Given the description of an element on the screen output the (x, y) to click on. 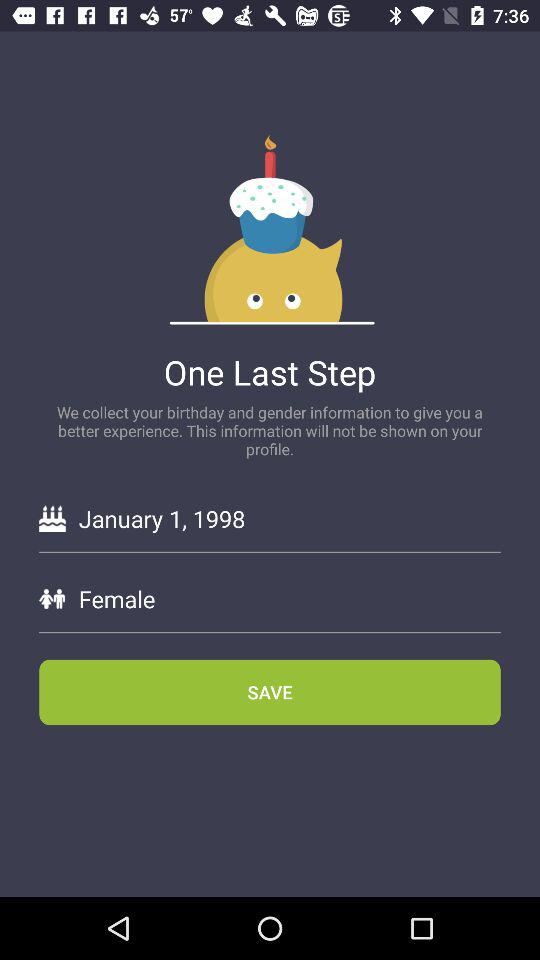
choose the female item (289, 598)
